Given the description of an element on the screen output the (x, y) to click on. 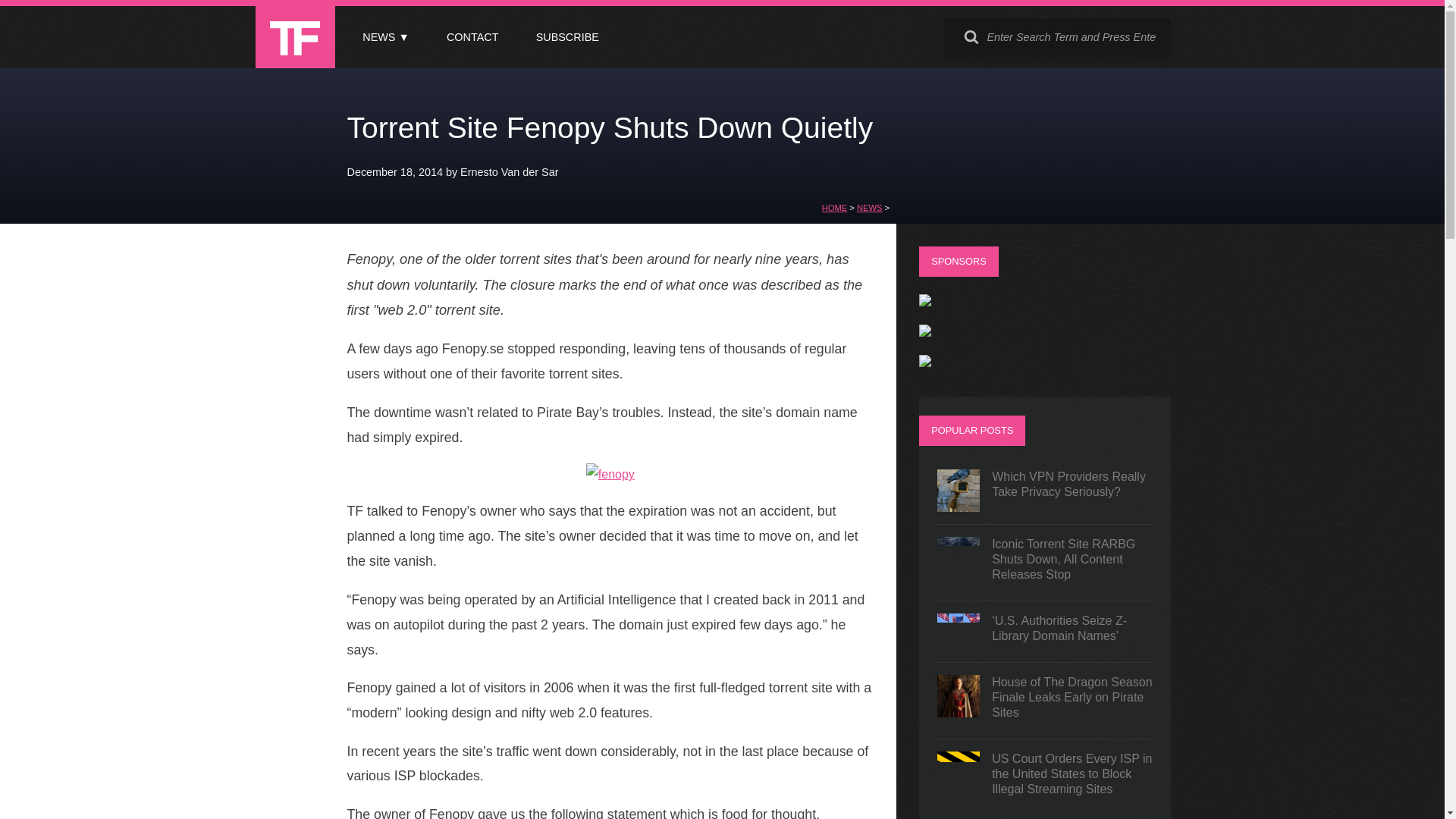
Which VPN Providers Really Take Privacy Seriously? (1045, 490)
HOME (834, 207)
NEWS (869, 207)
Private Internet Access (924, 301)
ExpressVPN (924, 332)
Ernesto Van der Sar (508, 172)
SUBSCRIBE (566, 37)
